Given the description of an element on the screen output the (x, y) to click on. 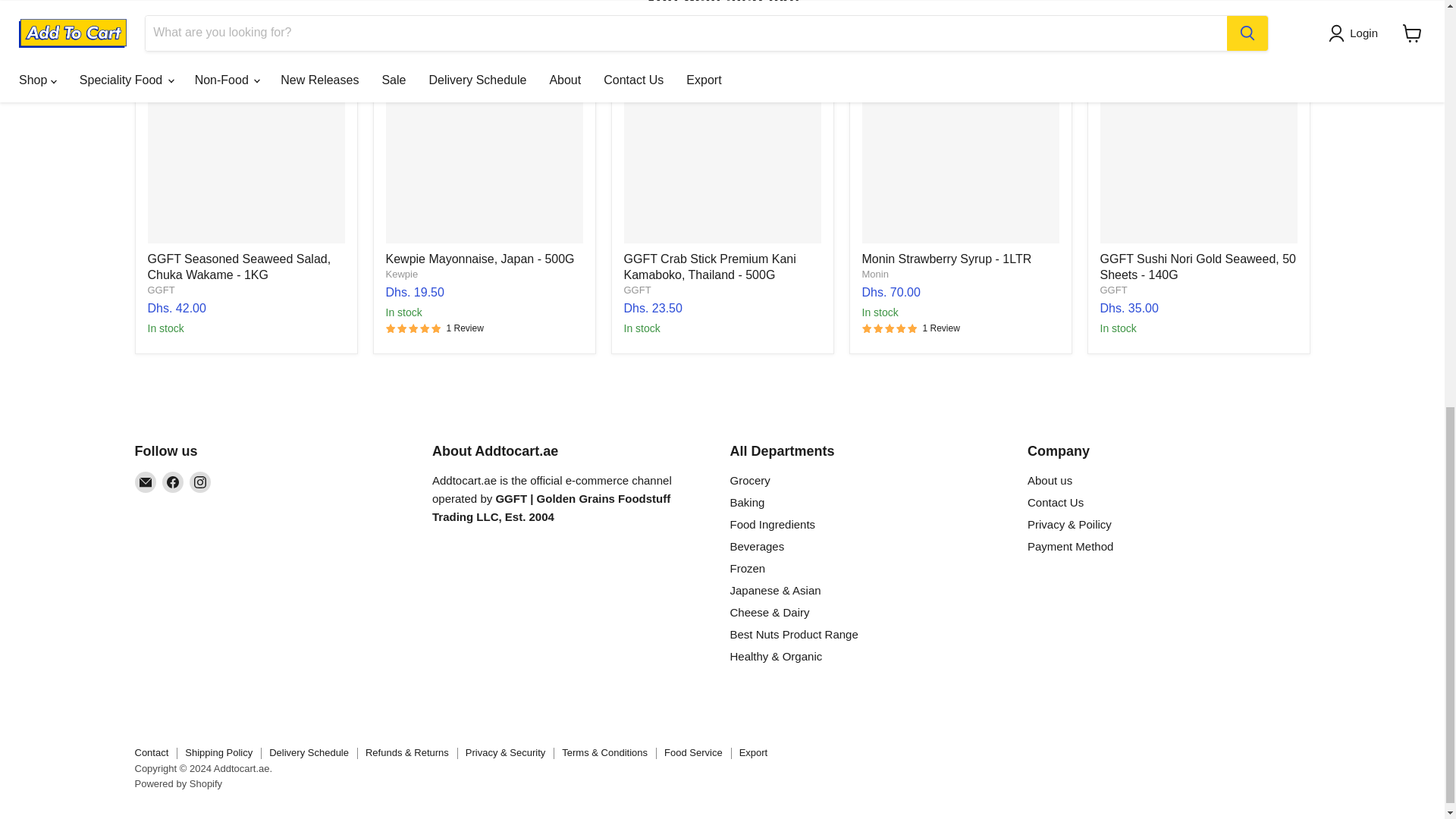
Facebook (172, 482)
Monin (874, 274)
Instagram (200, 482)
GGFT (1112, 288)
GGFT (636, 288)
Email (145, 482)
GGFT (160, 288)
Kewpie (401, 274)
